Given the description of an element on the screen output the (x, y) to click on. 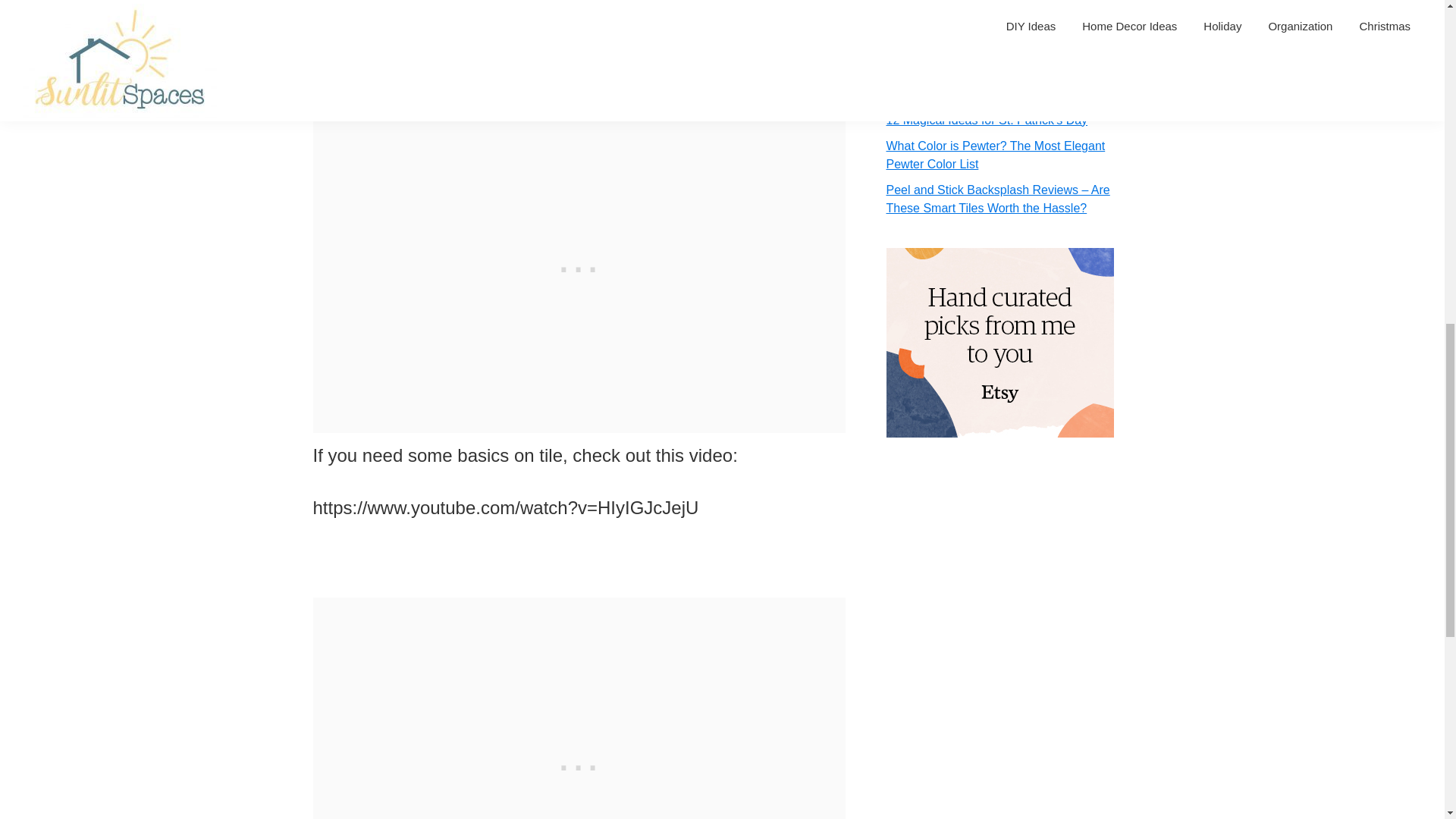
Our Latest Posts (955, 14)
Must-Have Magnolia Home Decor (976, 93)
What Color is Pewter? The Most Elegant Pewter Color List (995, 154)
